Given the description of an element on the screen output the (x, y) to click on. 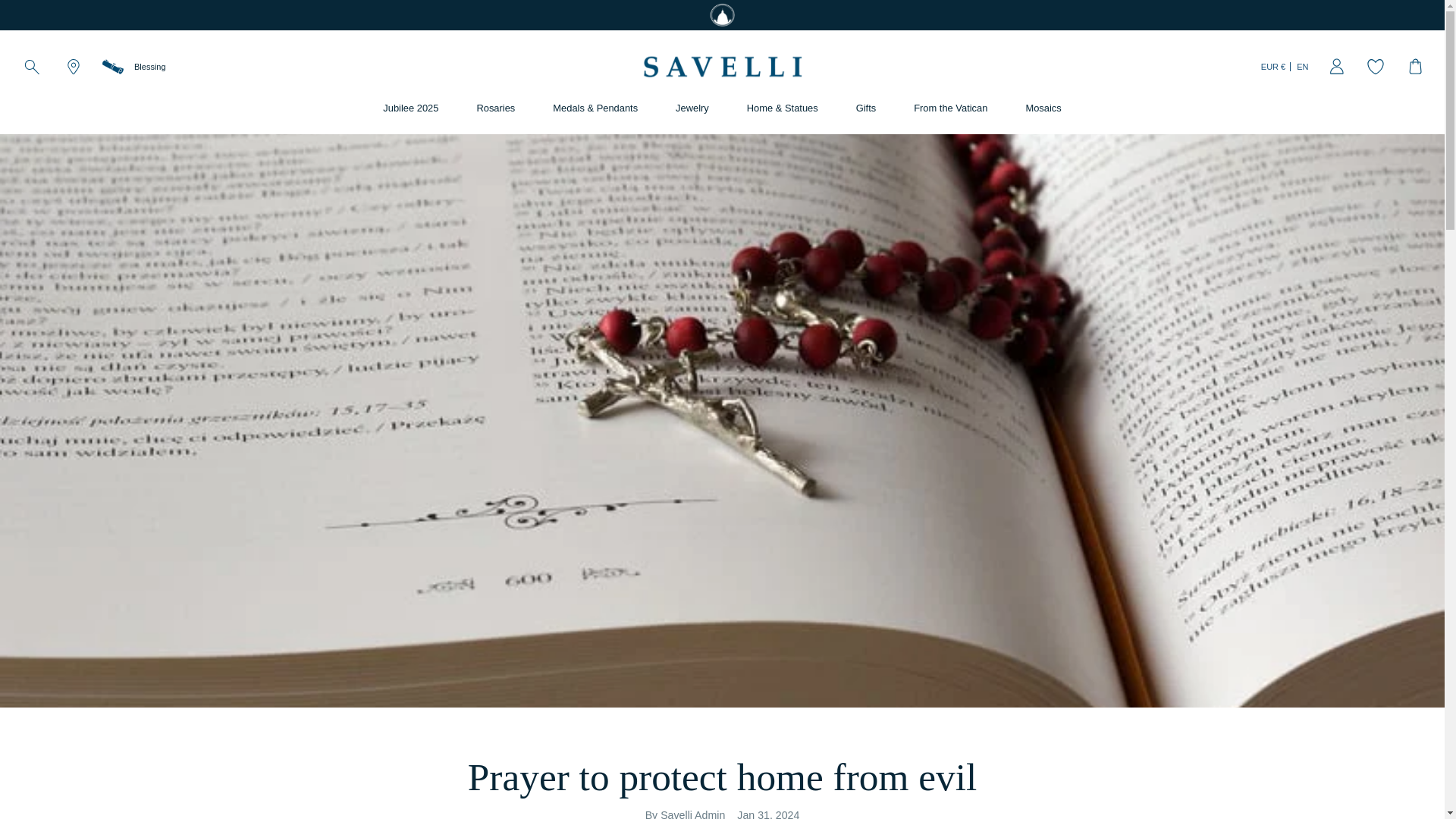
Blessing (128, 66)
